Given the description of an element on the screen output the (x, y) to click on. 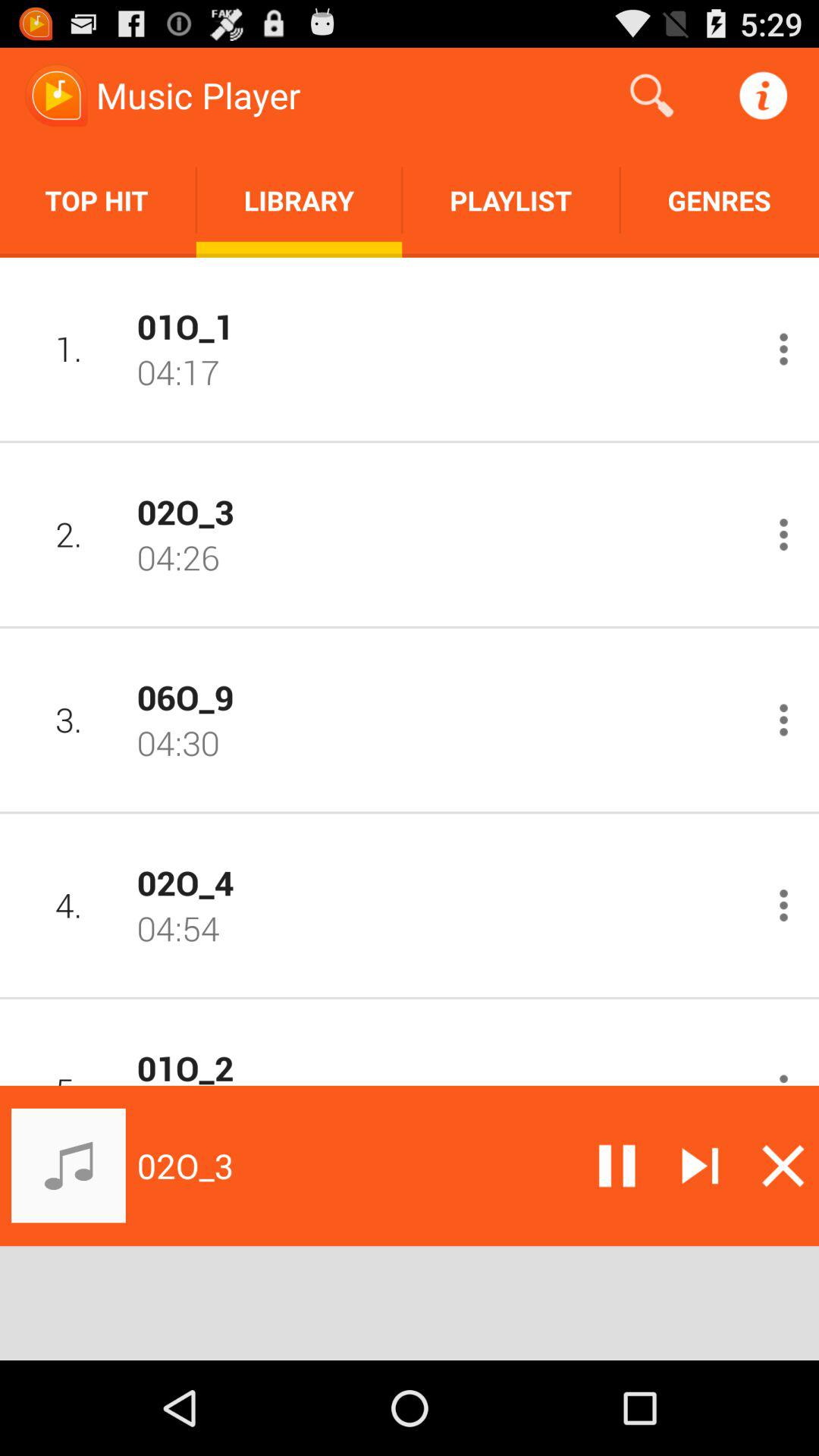
flip until the playlist app (510, 200)
